Given the description of an element on the screen output the (x, y) to click on. 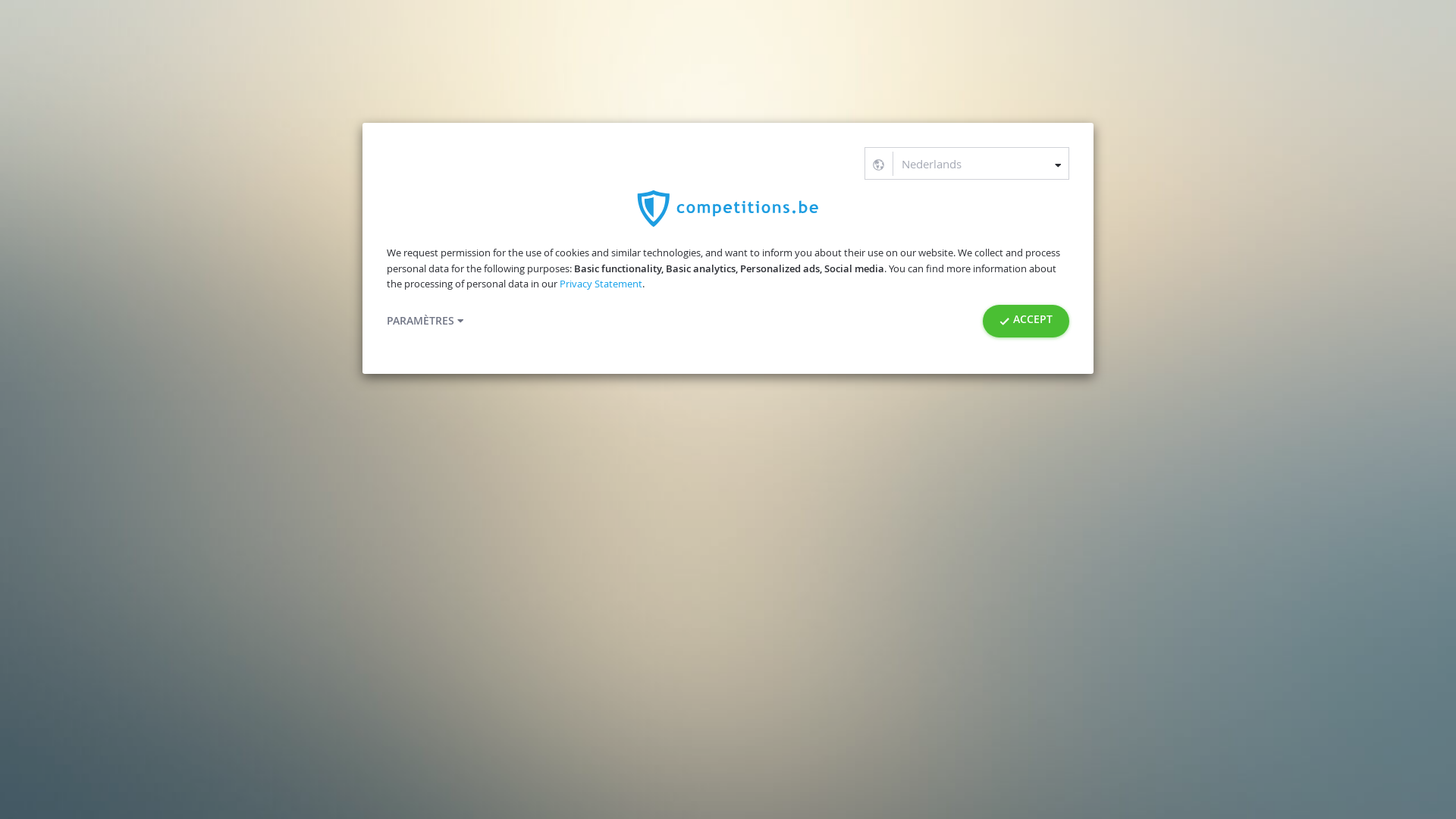
ACCEPT Element type: text (1025, 320)
Privacy Statement Element type: text (600, 283)
